Given the description of an element on the screen output the (x, y) to click on. 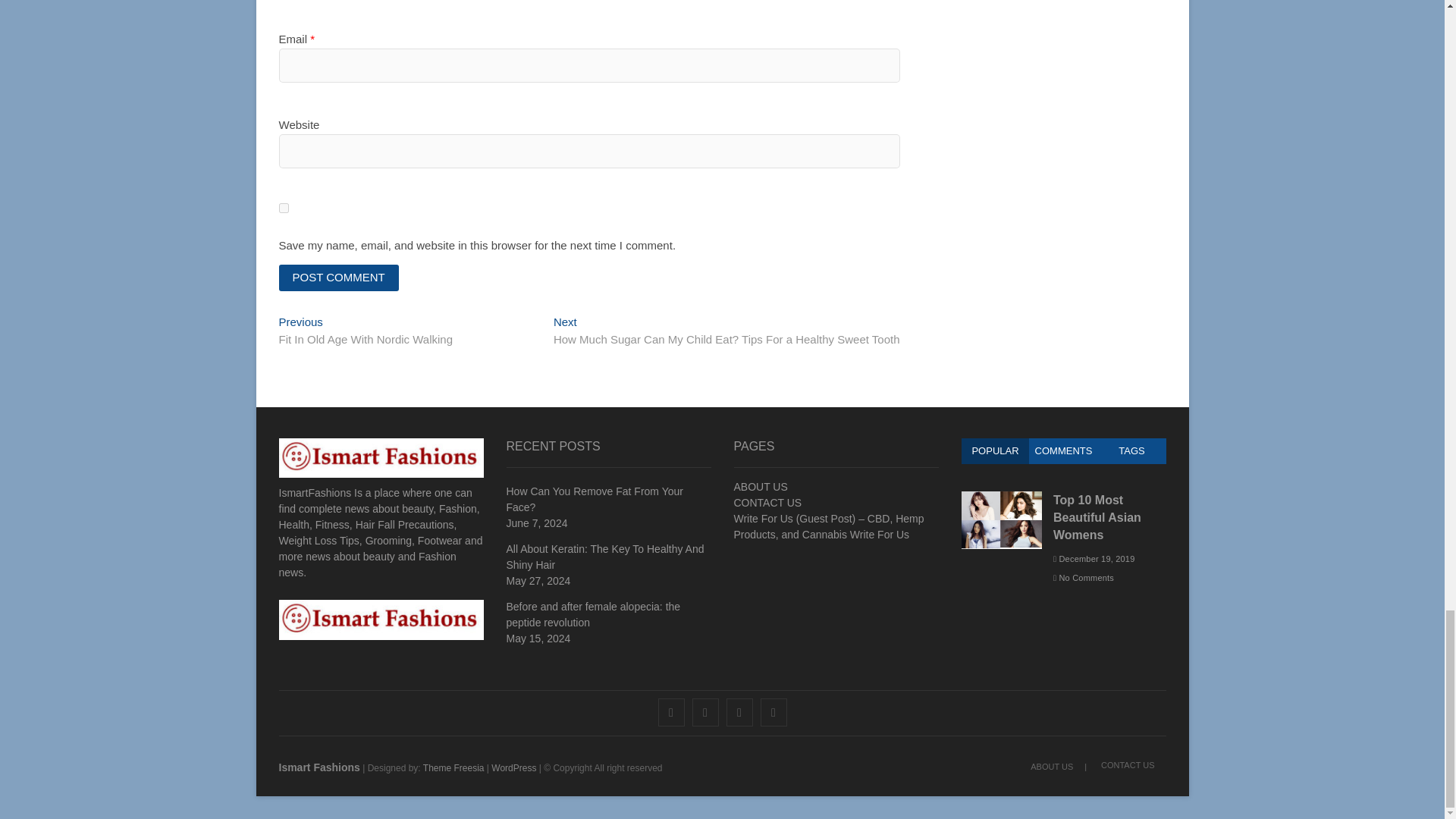
yes (283, 207)
Post Comment (338, 277)
